Given the description of an element on the screen output the (x, y) to click on. 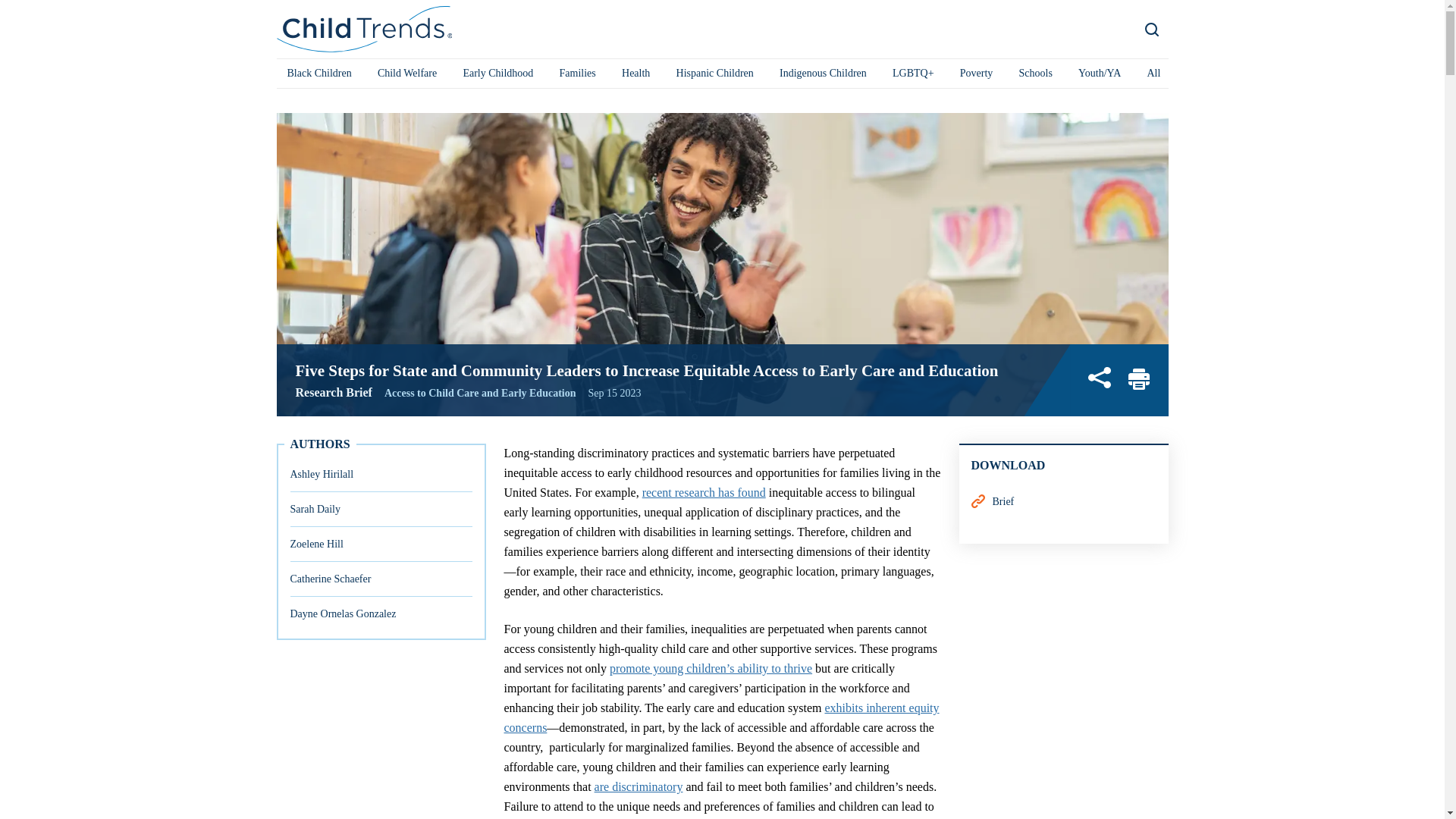
Black Children (318, 72)
exhibits inherent equity concerns (721, 717)
Zoelene Hill (315, 544)
Health (636, 72)
Early Childhood (497, 72)
Print (1139, 380)
Poverty (976, 72)
Child Welfare (406, 72)
Indigenous Children (823, 72)
Access to Child Care and Early Education (480, 392)
Schools (1035, 72)
recent research has found (703, 492)
Ashley Hirilall (321, 474)
All (1152, 72)
are discriminatory (638, 786)
